Given the description of an element on the screen output the (x, y) to click on. 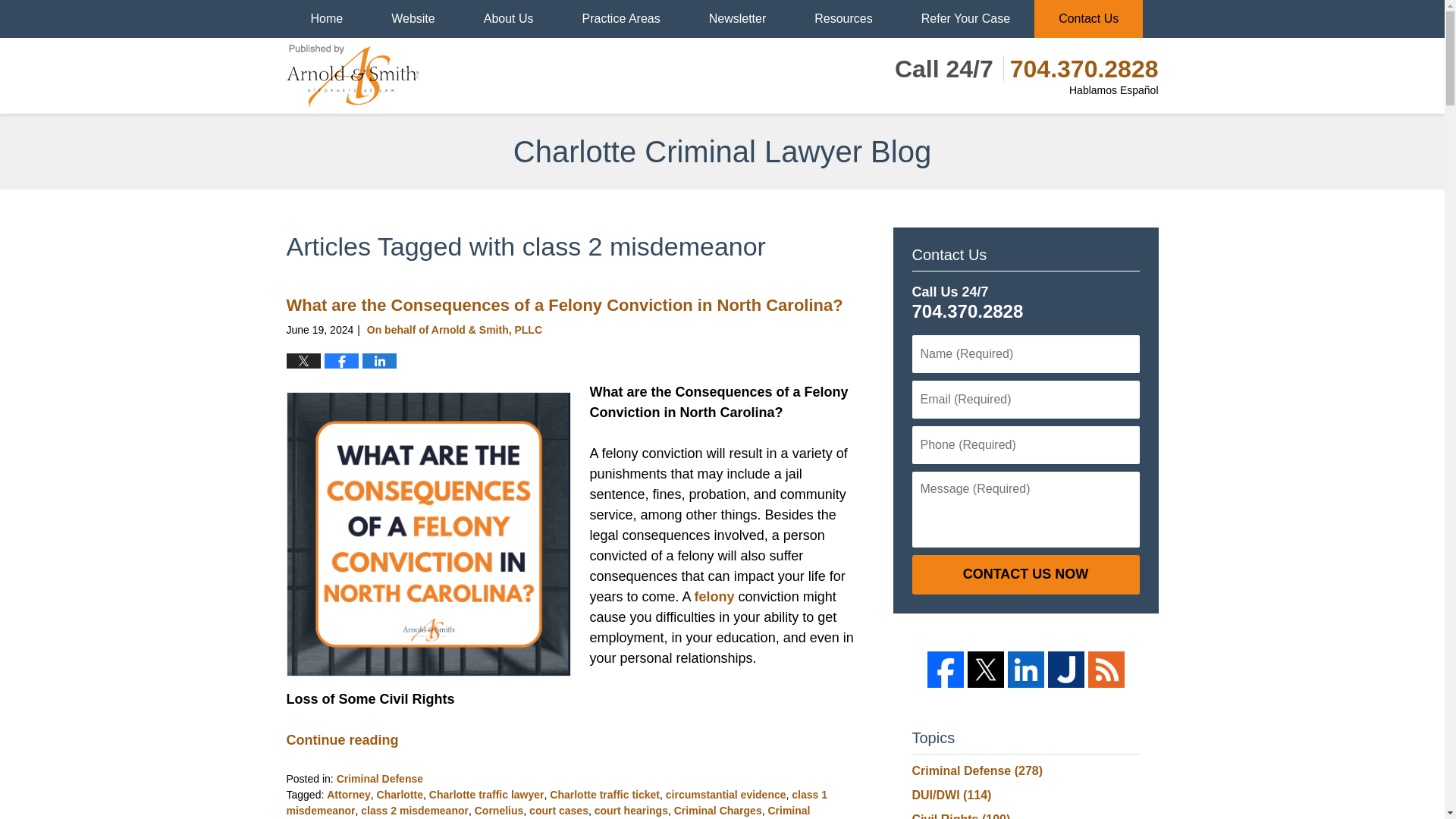
View all posts in Criminal Defense (379, 778)
class 1 misdemeanor (557, 802)
View all posts tagged with class 2 misdemeanor (414, 810)
Practice Areas (620, 18)
circumstantial evidence (725, 794)
View all posts tagged with Charlotte (400, 794)
View all posts tagged with Criminal Defense (548, 811)
Website (413, 18)
Resources (843, 18)
Charlotte Criminal Lawyer Blog (352, 76)
Charlotte traffic ticket (604, 794)
View all posts tagged with Charlotte traffic lawyer (486, 794)
felony (714, 596)
About Us (508, 18)
View all posts tagged with court hearings (631, 810)
